Given the description of an element on the screen output the (x, y) to click on. 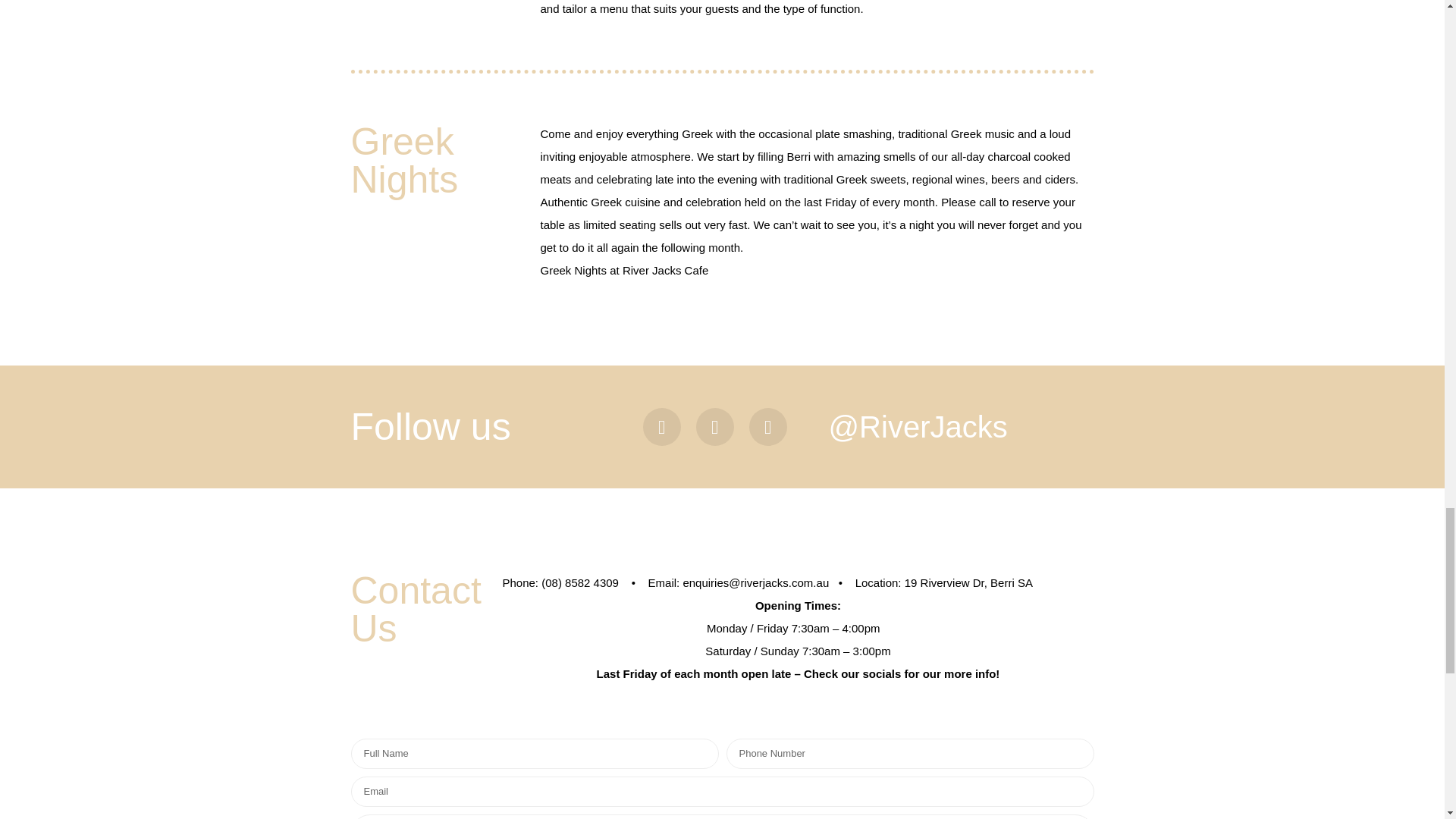
19 Riverview Dr, Berri SA  (969, 582)
